Given the description of an element on the screen output the (x, y) to click on. 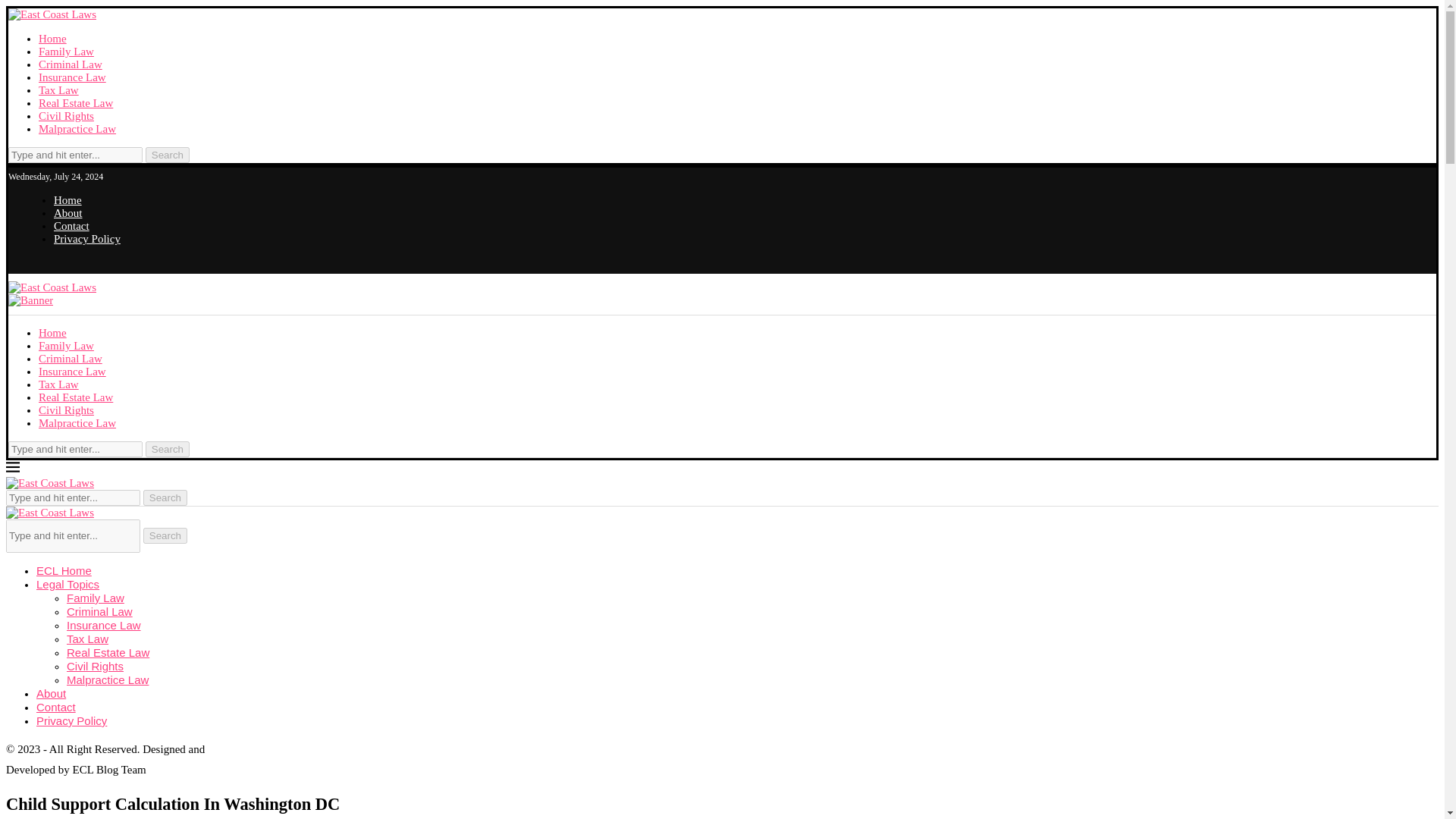
Home (52, 332)
Malpractice Law (77, 128)
Home (52, 38)
Contact (70, 225)
Family Law (66, 51)
Civil Rights (66, 410)
Family Law (66, 345)
Criminal Law (70, 64)
Home (67, 200)
Real Estate Law (76, 102)
Malpractice Law (77, 422)
Tax Law (58, 384)
Civil Rights (66, 115)
Tax Law (58, 90)
Real Estate Law (76, 397)
